Given the description of an element on the screen output the (x, y) to click on. 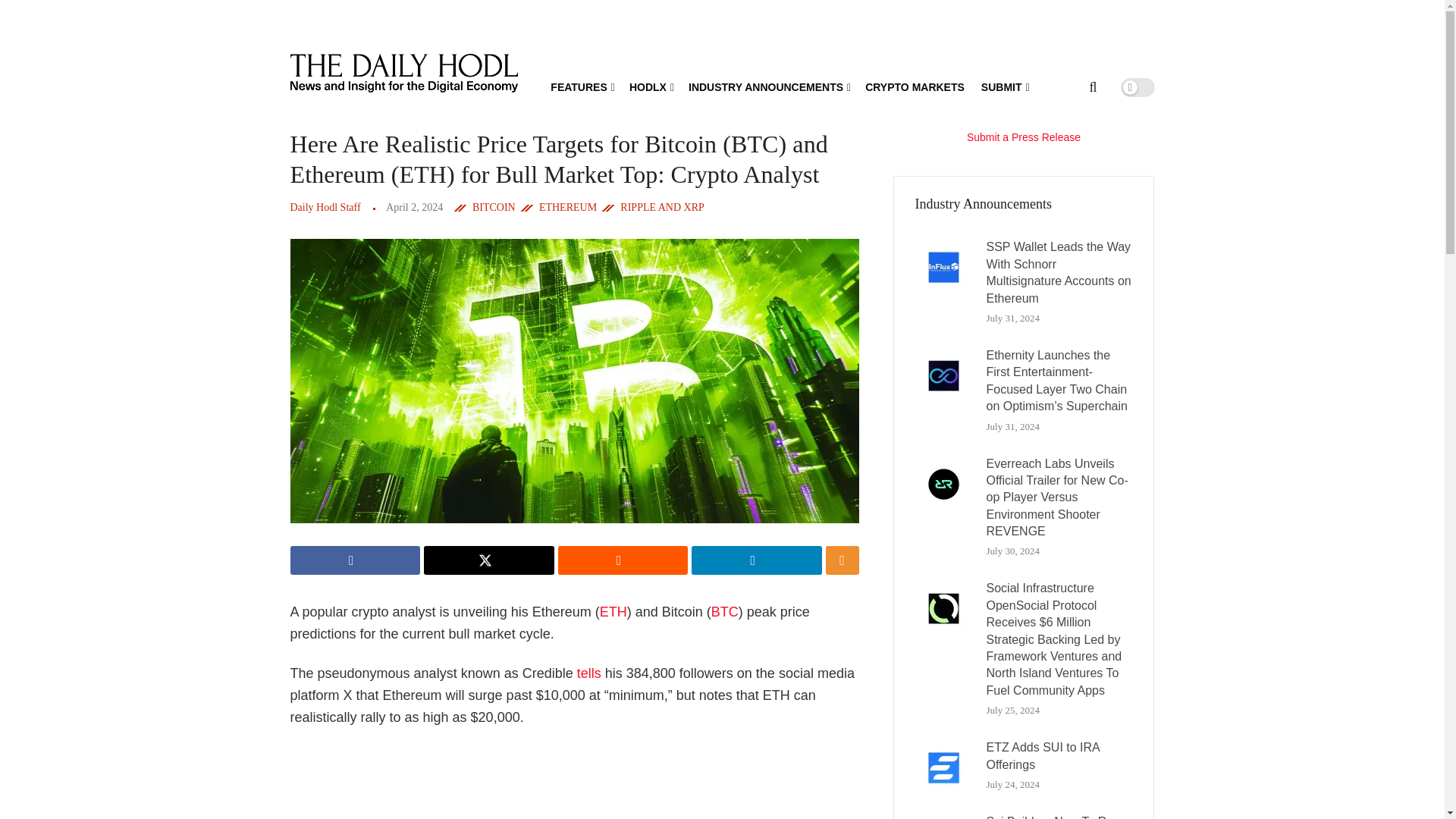
SUBMIT (1004, 86)
CRYPTO MARKETS (913, 86)
FEATURES (581, 86)
INDUSTRY ANNOUNCEMENTS (768, 86)
HODLX (649, 86)
